Given the description of an element on the screen output the (x, y) to click on. 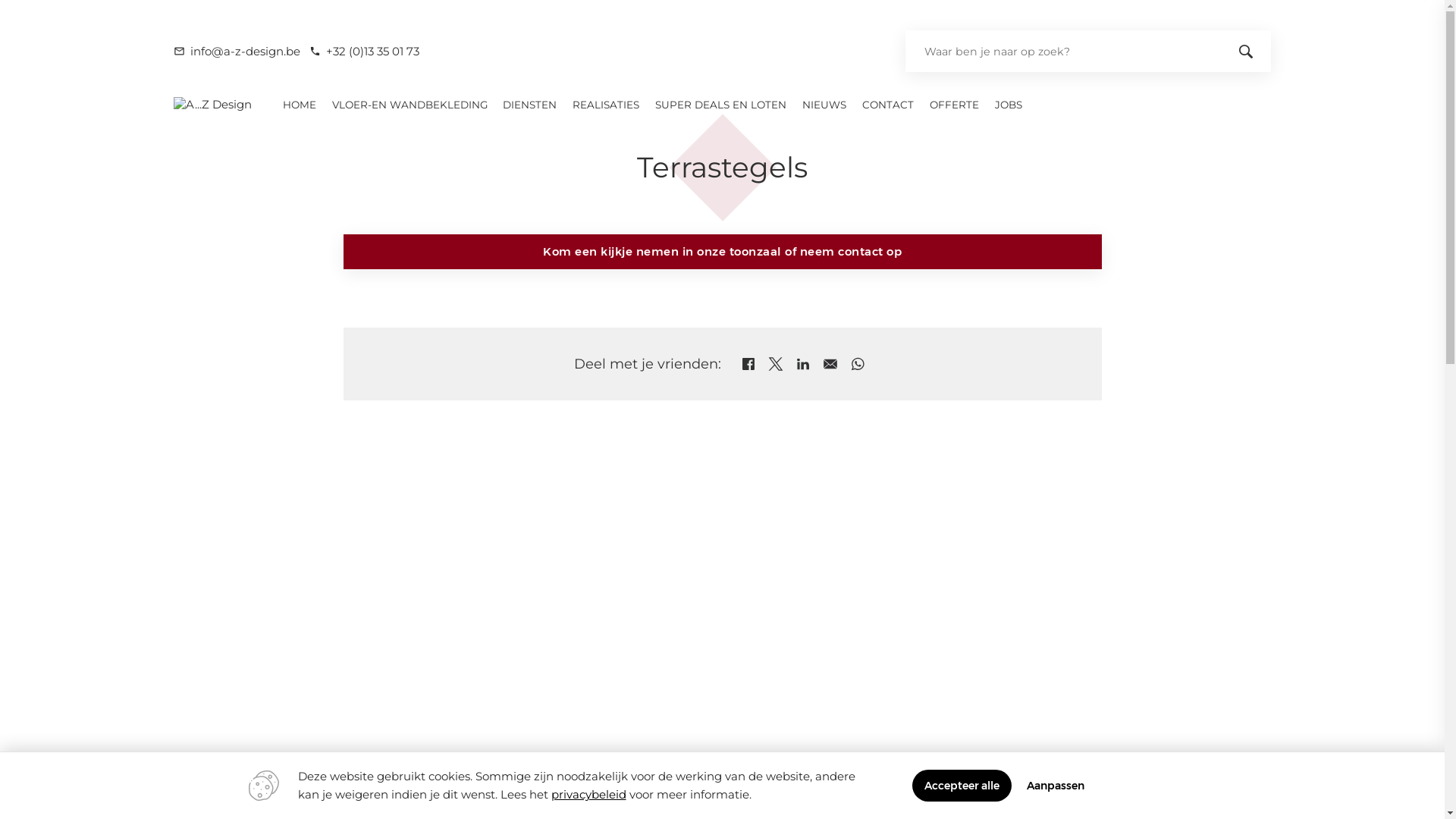
OFFERTE Element type: text (953, 103)
Share via X Element type: hover (775, 363)
DIENSTEN Element type: text (529, 103)
REALISATIES Element type: text (605, 103)
Share via mail Element type: hover (830, 363)
Share via whatsapp Element type: hover (857, 363)
Kom een kijkje nemen in onze toonzaal of neem contact op Element type: text (721, 251)
Share via facebook Element type: hover (748, 363)
Share via linkedin Element type: hover (802, 363)
NIEUWS Element type: text (824, 103)
CONTACT Element type: text (888, 103)
phone
+32 (0)13 35 01 73 Element type: text (364, 51)
A...Z Design Element type: hover (212, 104)
HOME Element type: text (299, 103)
SUPER DEALS EN LOTEN Element type: text (720, 103)
Aanpassen Element type: text (1055, 785)
privacybeleid Element type: text (587, 794)
mail_outline
info@a-z-design.be Element type: text (236, 51)
JOBS Element type: text (1008, 103)
Accepteer alle Element type: text (960, 785)
